Given the description of an element on the screen output the (x, y) to click on. 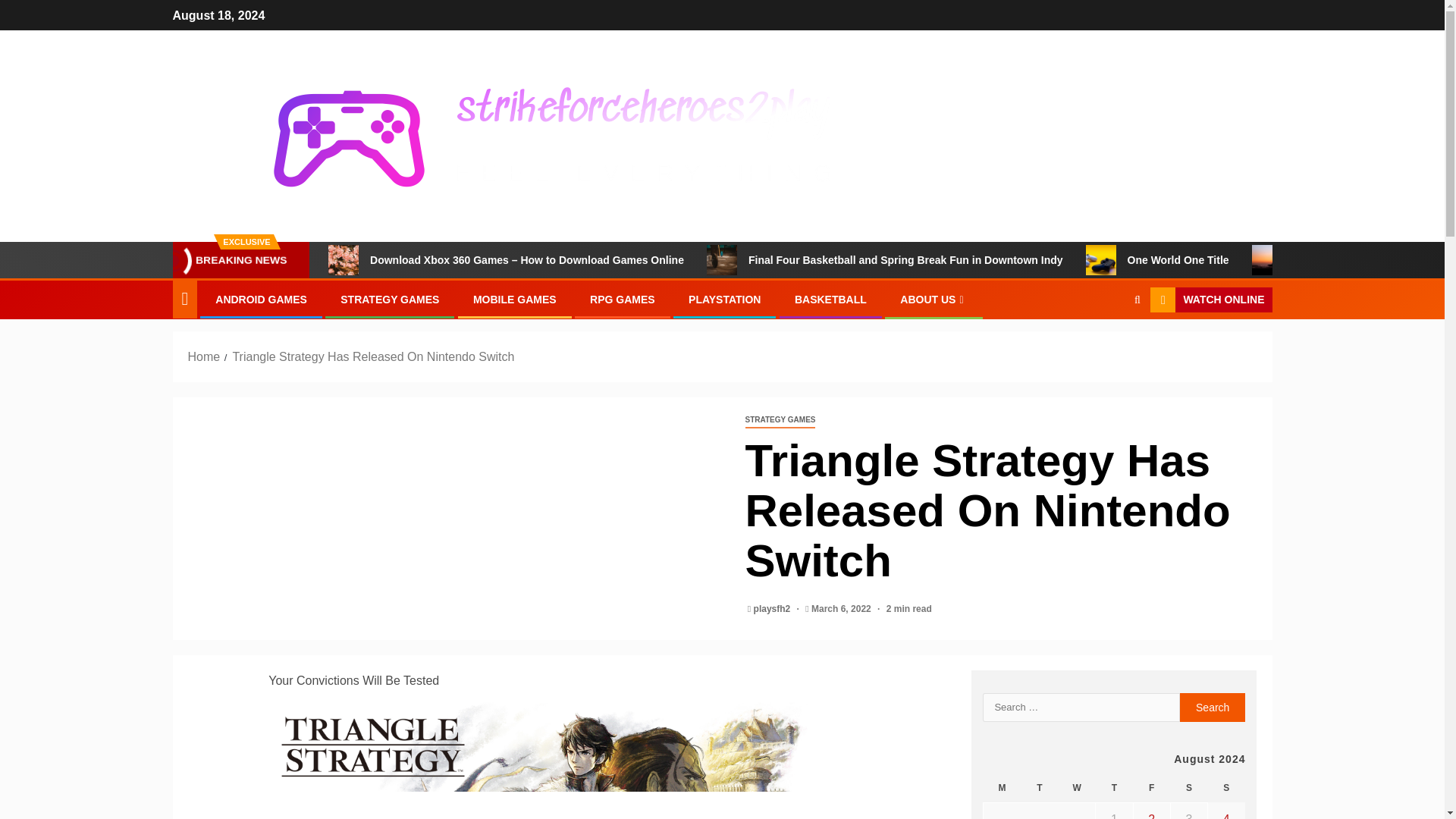
Home (204, 356)
One World One Title (1101, 259)
WATCH ONLINE (1210, 299)
Search (1212, 706)
Final Four Basketball and Spring Break Fun in Downtown Indy (721, 259)
ANDROID GAMES (261, 299)
Different Online Game Development Solutions for Smartphones (1267, 259)
Monday (1002, 787)
BASKETBALL (830, 299)
STRATEGY GAMES (389, 299)
